Given the description of an element on the screen output the (x, y) to click on. 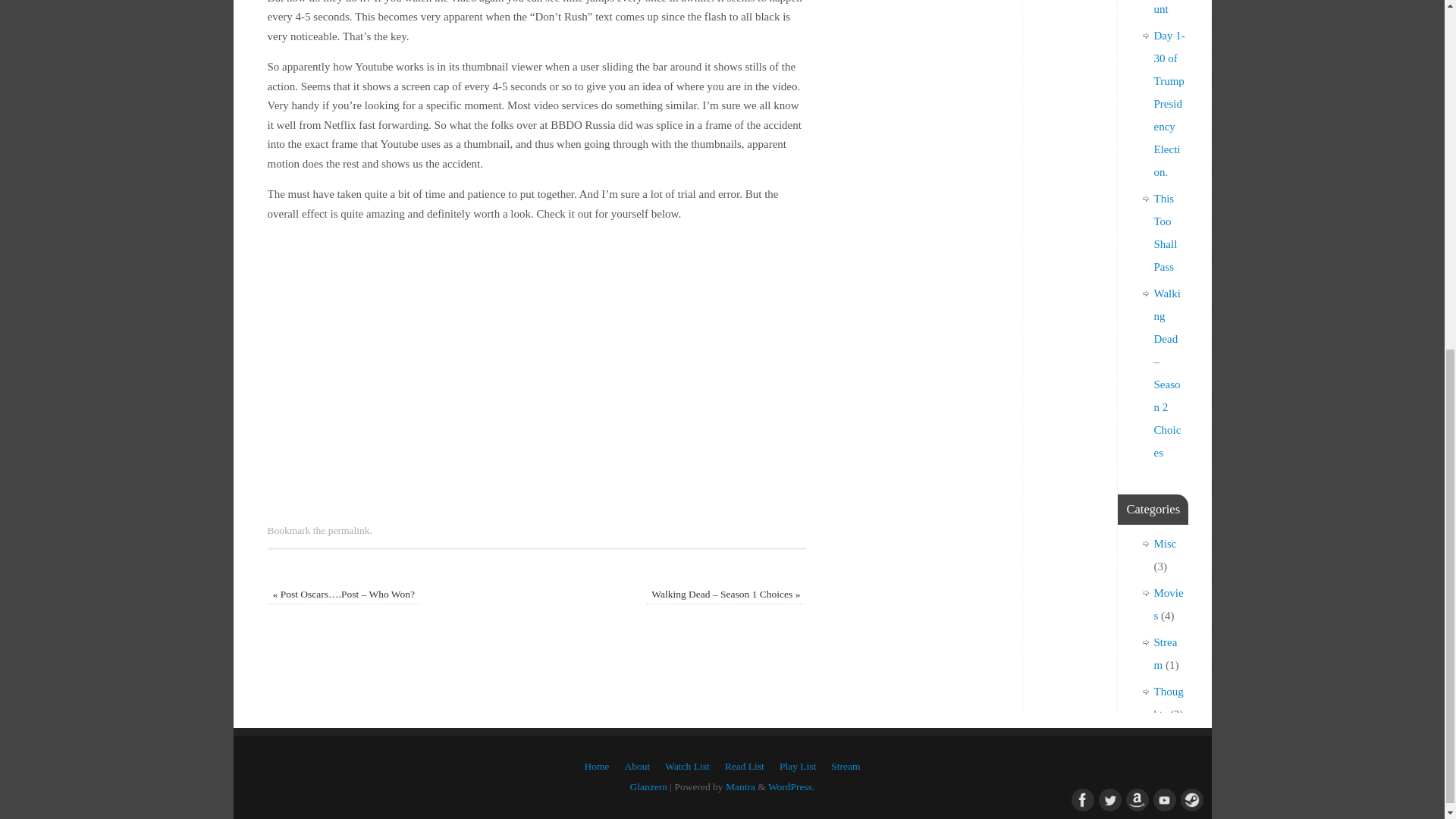
Thoughts (1168, 702)
This Too Shall Pass (1165, 232)
Mantra Theme by Cryout Creations (740, 786)
permalink (349, 530)
The Manhunt (1167, 7)
Semantic Personal Publishing Platform (791, 786)
Movies (1168, 604)
Misc (1165, 543)
Day 1-30 of Trump Presidency Election. (1169, 103)
Glanzern (647, 786)
Stream (1165, 653)
